Given the description of an element on the screen output the (x, y) to click on. 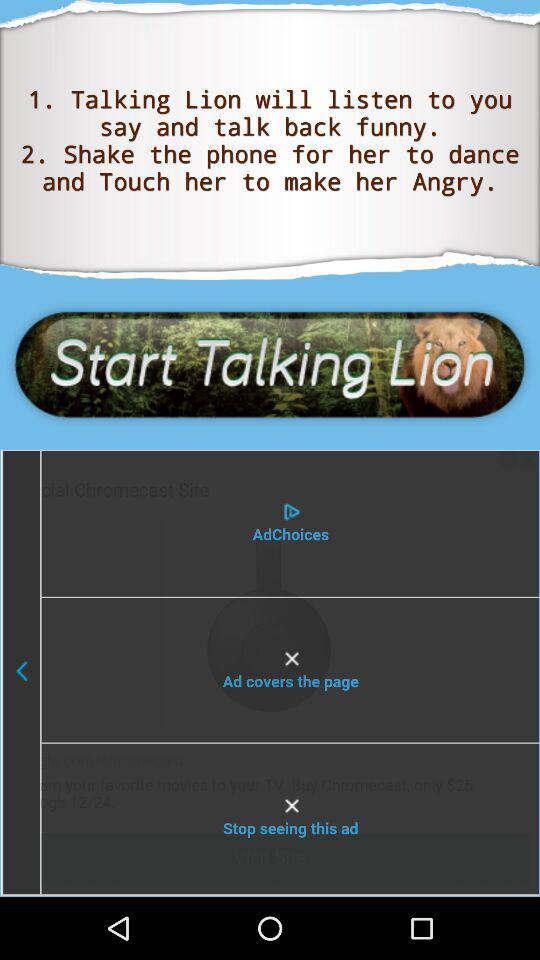
switch autoplay option (269, 672)
